Given the description of an element on the screen output the (x, y) to click on. 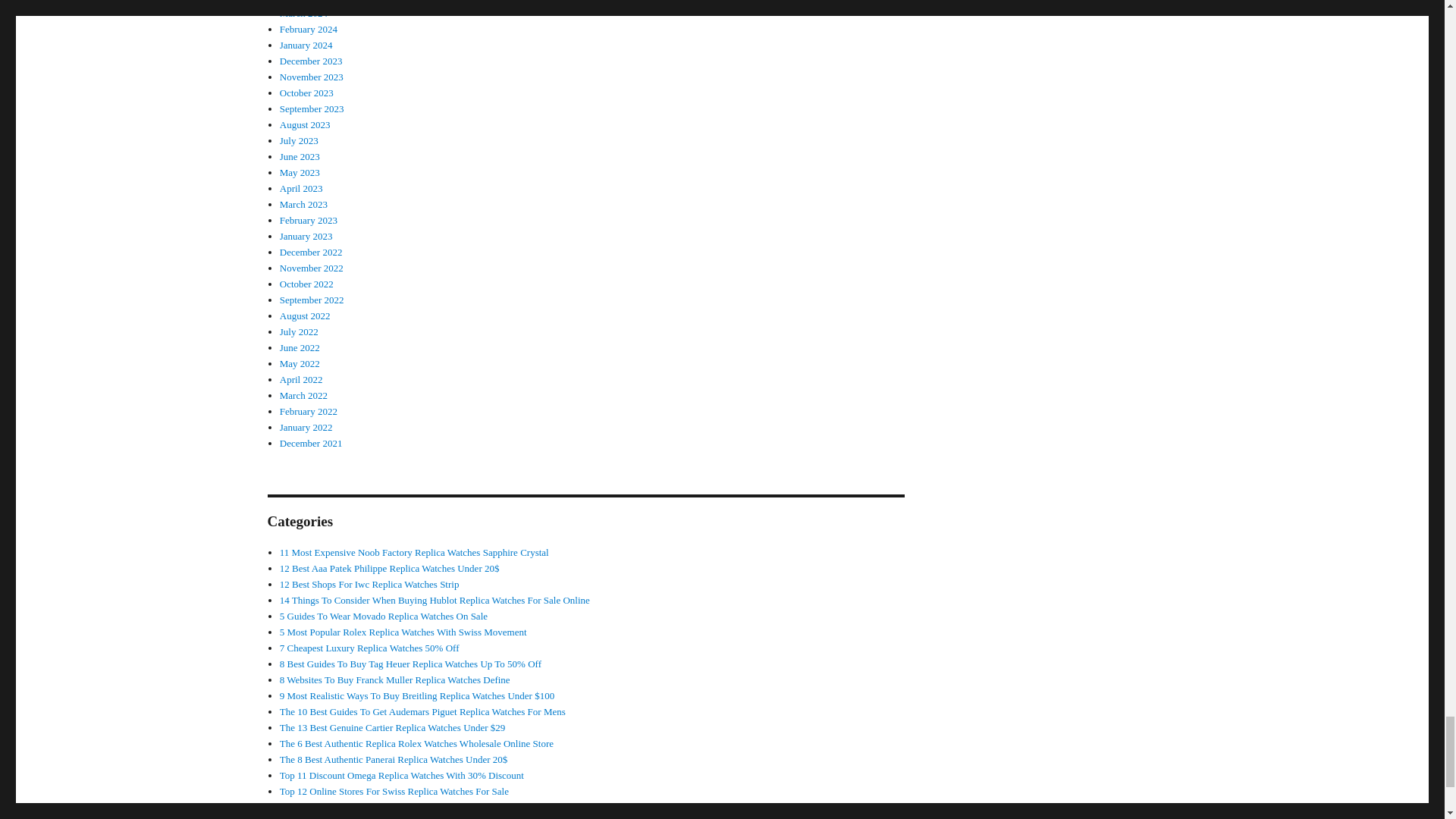
July 2023 (298, 140)
May 2023 (299, 172)
March 2024 (303, 12)
October 2023 (306, 92)
April 2024 (301, 1)
September 2023 (311, 108)
May 2022 (299, 363)
November 2023 (311, 76)
December 2023 (310, 60)
February 2024 (308, 29)
June 2022 (299, 347)
July 2022 (298, 331)
November 2022 (311, 267)
September 2022 (311, 299)
March 2023 (303, 204)
